Given the description of an element on the screen output the (x, y) to click on. 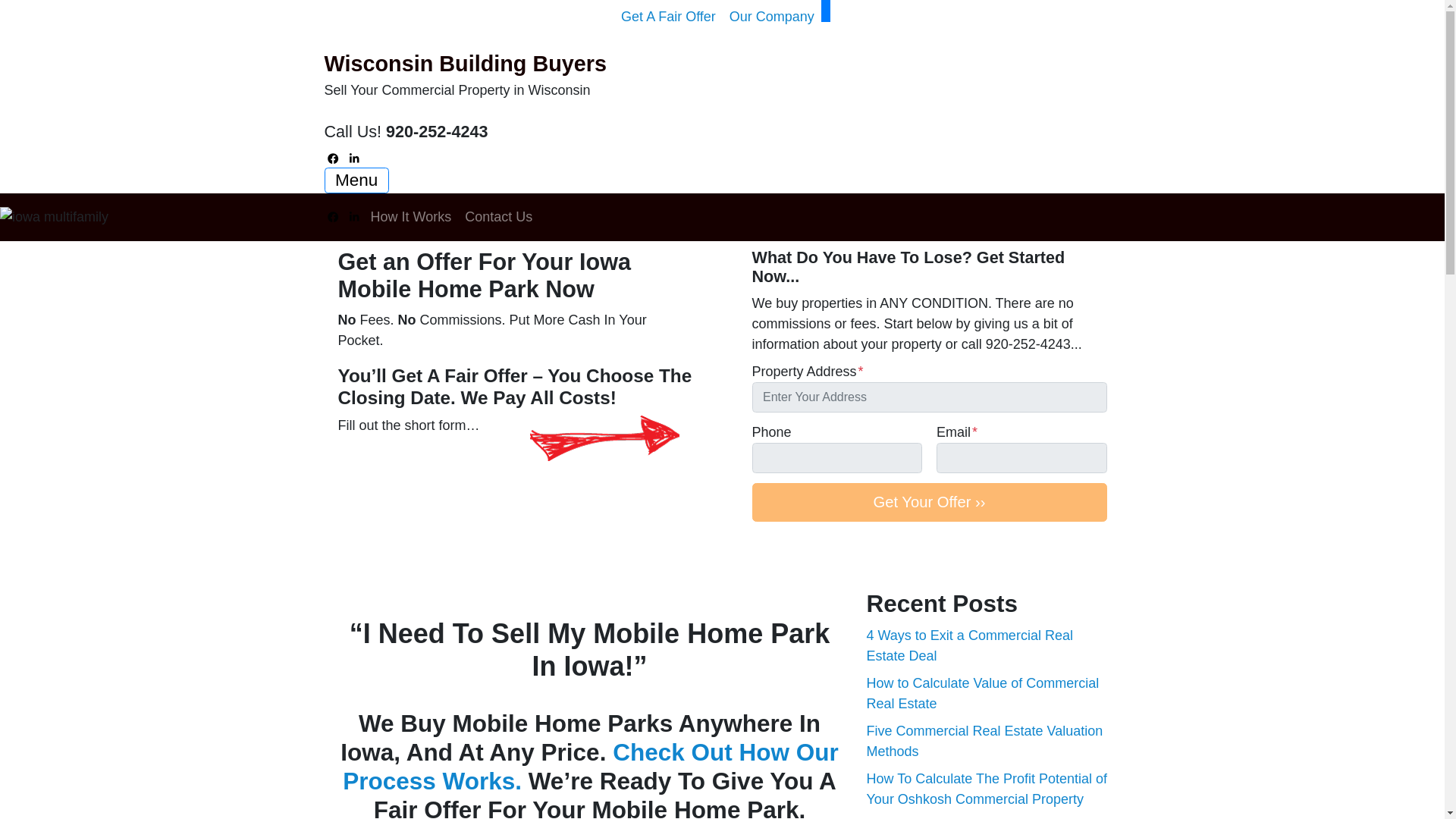
LinkedIn (355, 217)
Contact Us (498, 216)
Arrow Right (603, 438)
Our Company (771, 17)
Facebook (333, 217)
Menu (356, 180)
How It Works (411, 216)
LinkedIn (355, 158)
Five Commercial Real Estate Valuation Methods (984, 741)
Contact Us (498, 216)
How It Works (411, 216)
Facebook (333, 158)
Check Out How Our Process Works. (590, 766)
4 Ways to Exit a Commercial Real Estate Deal (968, 645)
